Given the description of an element on the screen output the (x, y) to click on. 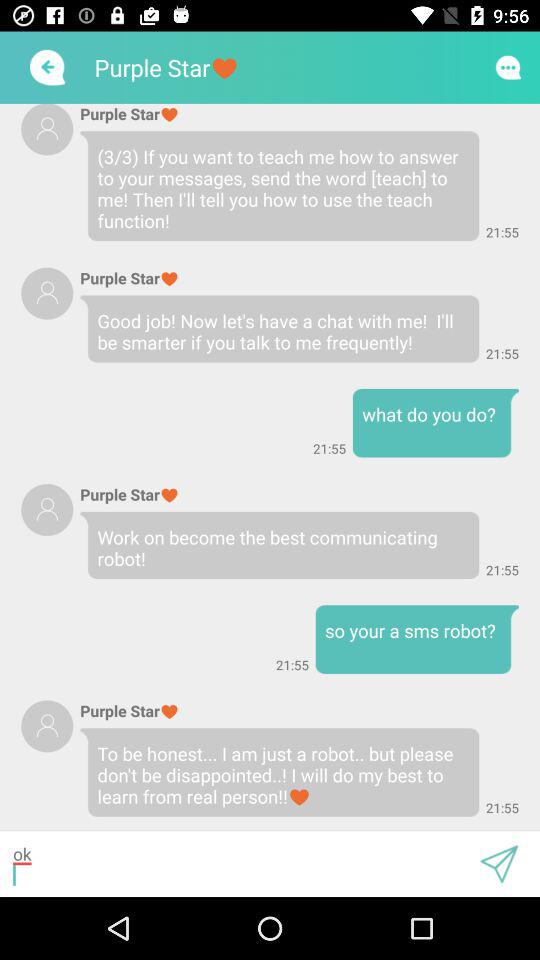
flip to ok
 icon (239, 863)
